Given the description of an element on the screen output the (x, y) to click on. 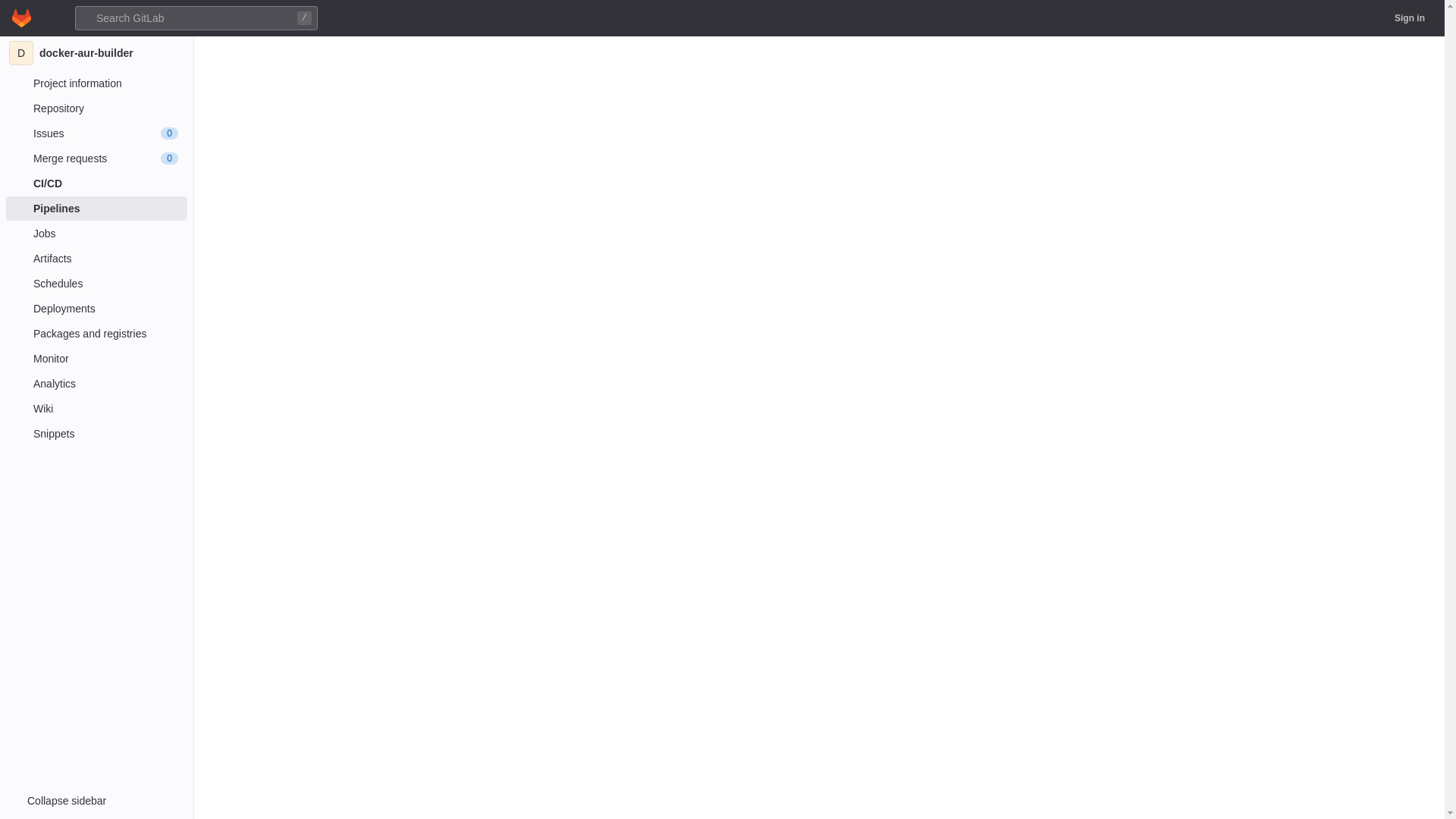
Sign in Element type: text (1409, 18)
Project information Element type: text (96, 83)
Artifacts Element type: text (96, 258)
Jobs Element type: text (96, 233)
Issues
0 Element type: text (96, 133)
Analytics Element type: text (96, 383)
Snippets Element type: text (96, 433)
D
docker-aur-builder Element type: text (97, 52)
Pipelines Element type: text (96, 208)
Schedules Element type: text (96, 283)
Skip to content Element type: text (11, 18)
Help Element type: text (1366, 18)
Repository Element type: text (96, 108)
Homepage Element type: hover (21, 18)
Monitor Element type: text (96, 358)
Packages and registries Element type: text (96, 333)
Wiki Element type: text (96, 408)
CI/CD Element type: text (96, 183)
Deployments Element type: text (96, 308)
Merge requests
0 Element type: text (96, 158)
